Given the description of an element on the screen output the (x, y) to click on. 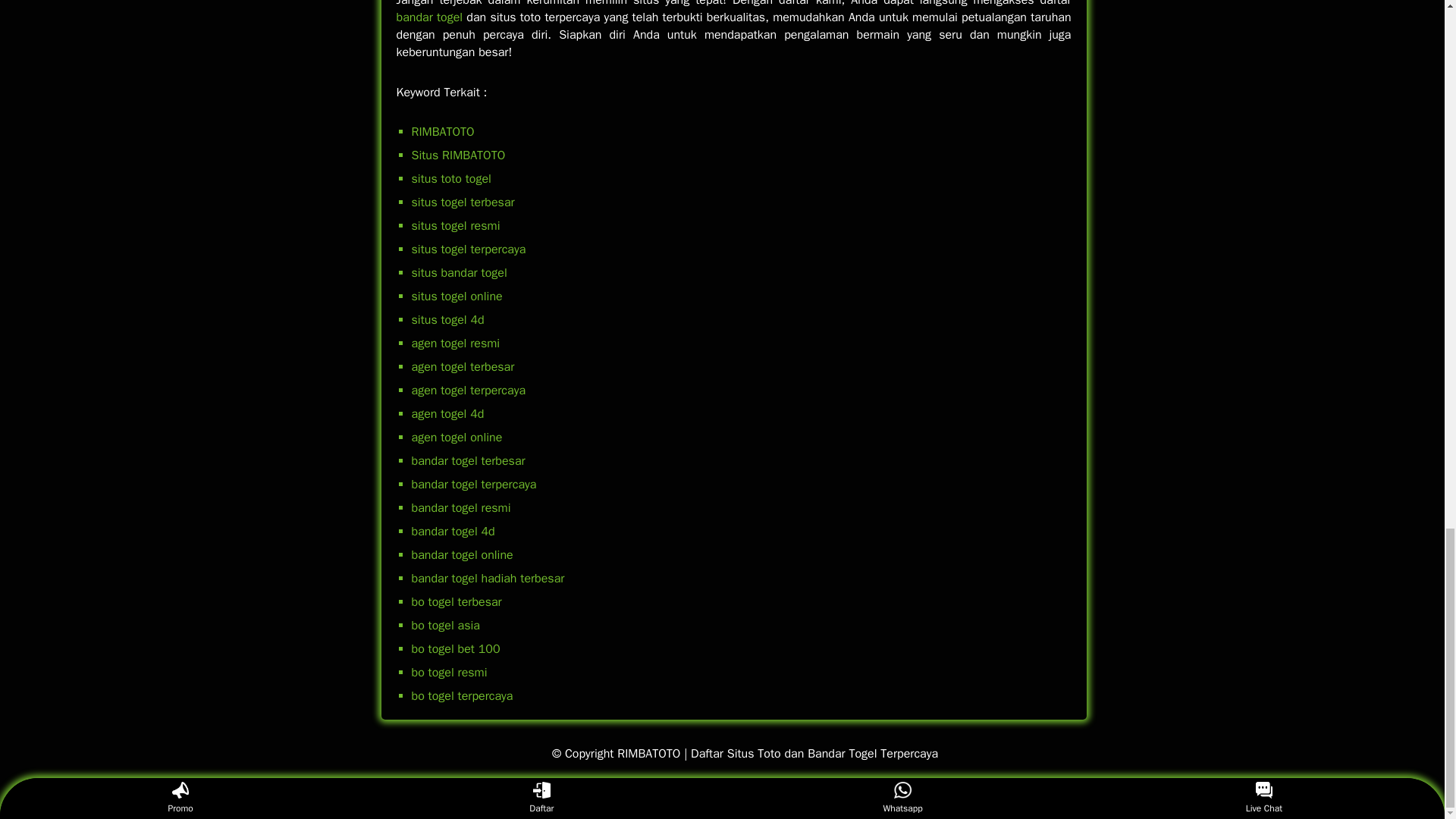
bandar togel (429, 17)
bandar togel (429, 17)
